Given the description of an element on the screen output the (x, y) to click on. 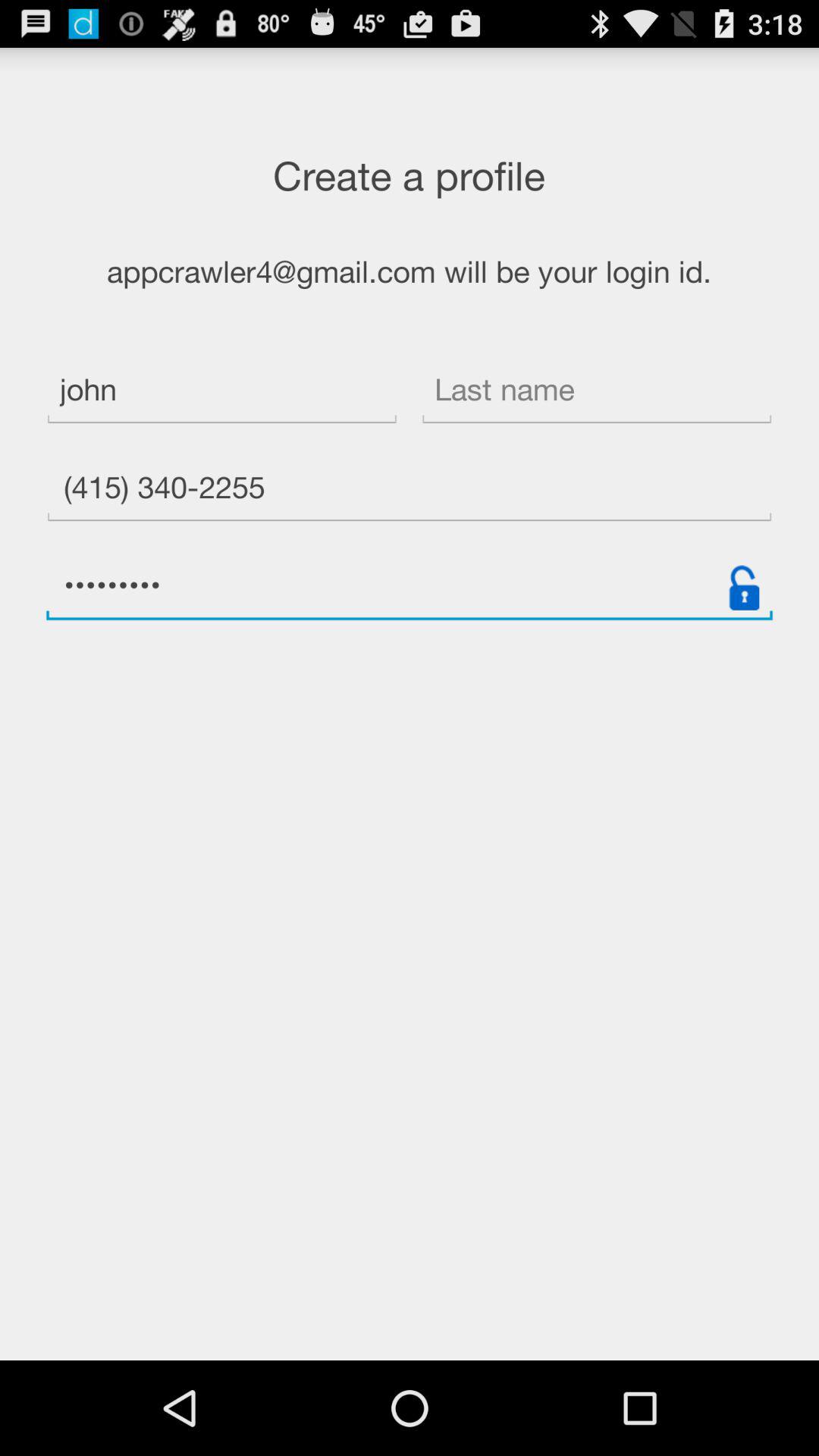
tap item at the top left corner (221, 392)
